Given the description of an element on the screen output the (x, y) to click on. 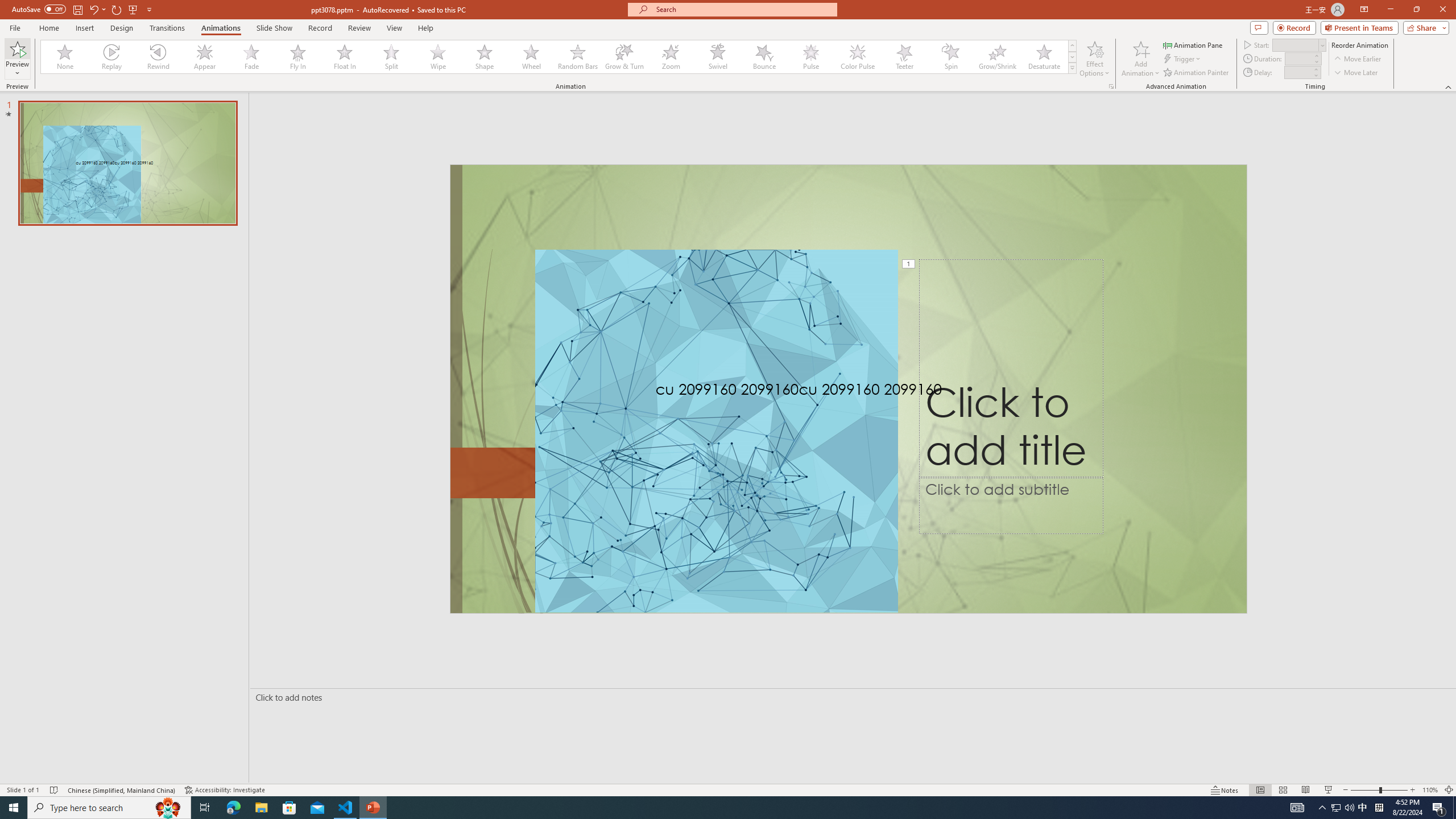
Spin (950, 56)
Trigger (1182, 58)
Fade (251, 56)
More Options... (1110, 85)
Move Later (1355, 72)
Animation Duration (1298, 58)
